Given the description of an element on the screen output the (x, y) to click on. 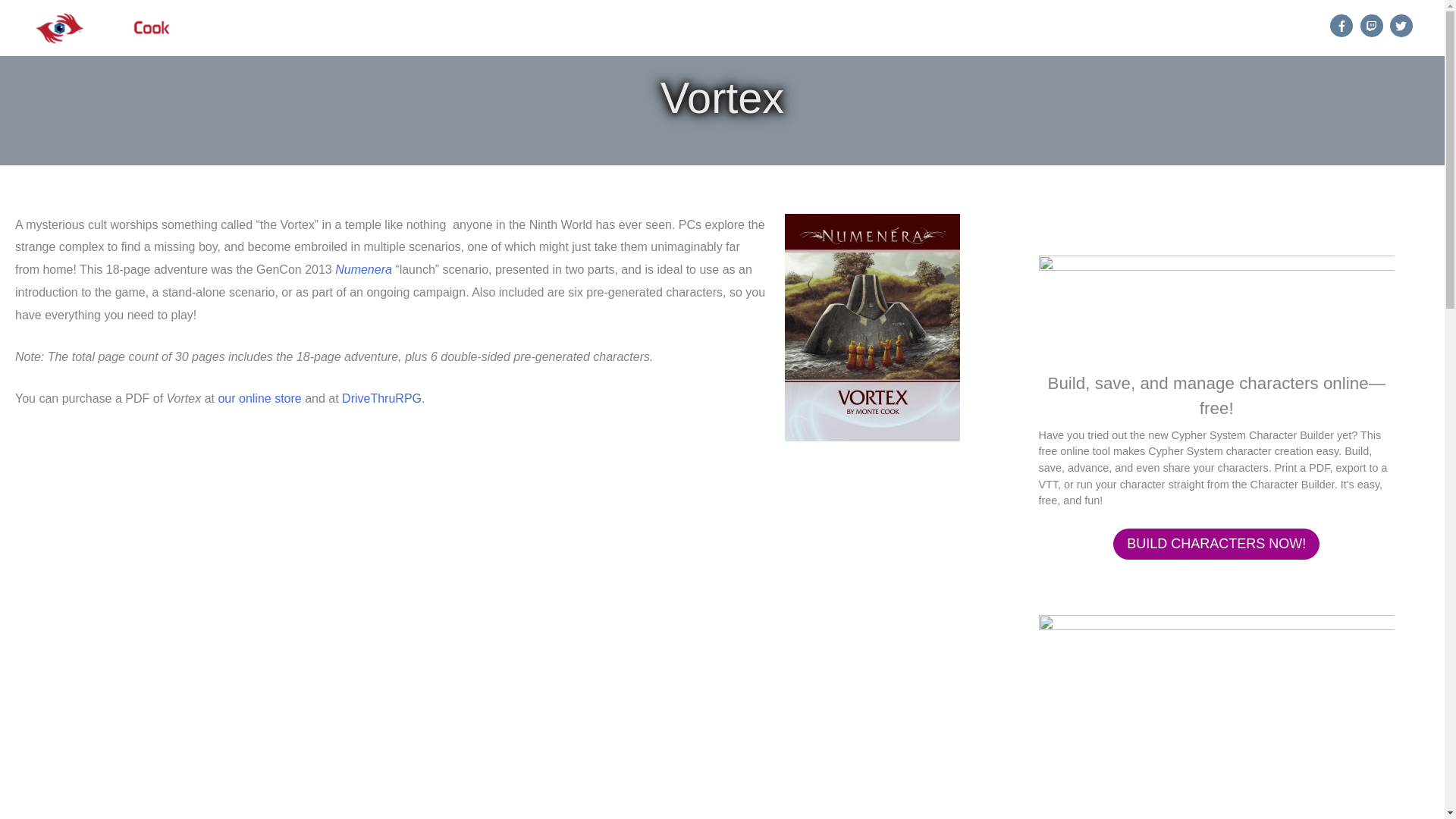
FAN SUPPORT (1077, 28)
CYPHER TOOLS (957, 28)
ABOUT (1173, 28)
NEW TO OUR GAMES? (679, 28)
STORE (862, 28)
NEWS (793, 28)
CONTACT US (1258, 28)
